Given the description of an element on the screen output the (x, y) to click on. 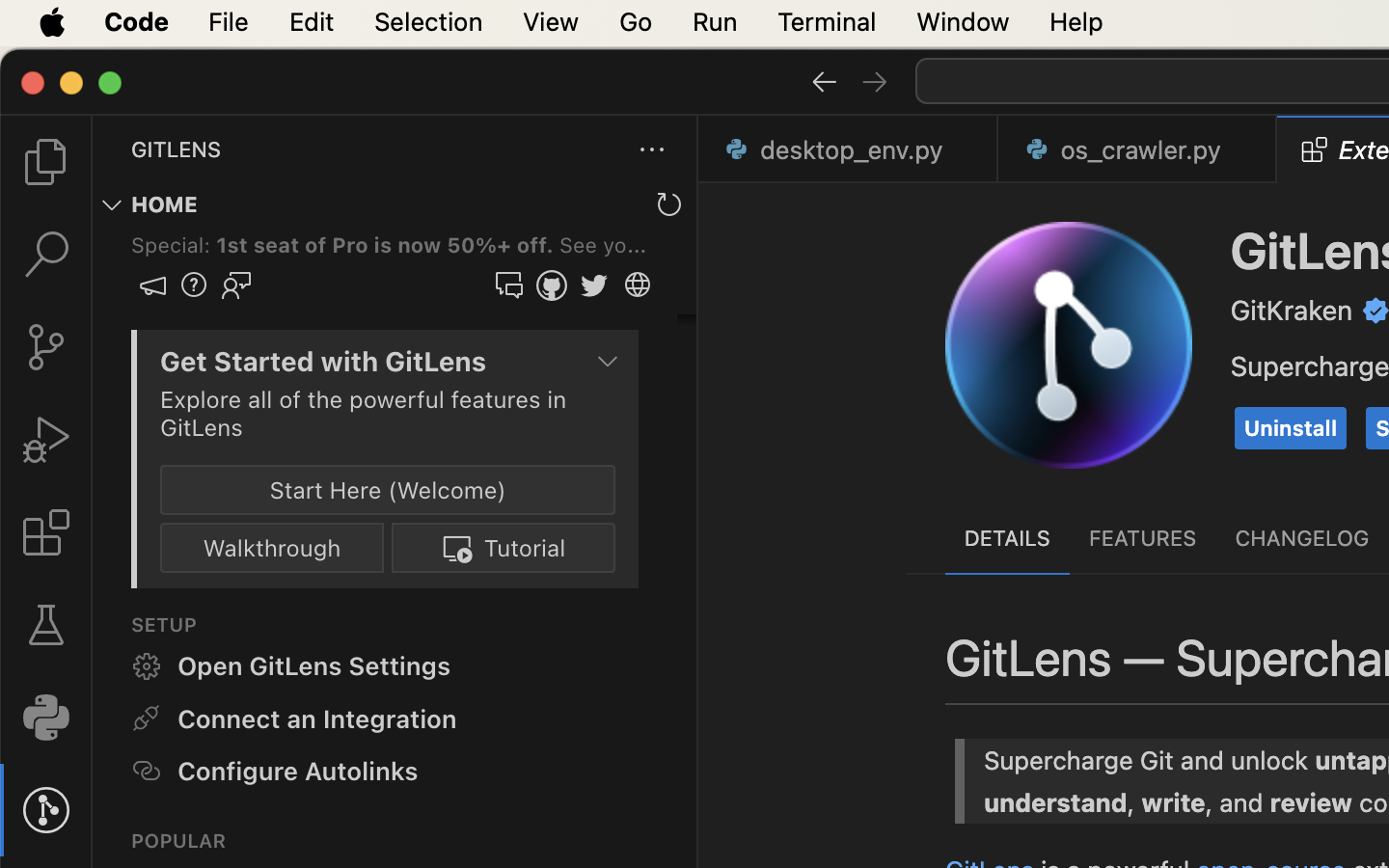
except Element type: AXStaticText (1282, 563)
GitKraken Element type: AXStaticText (1292, 310)
0 Element type: AXRadioButton (46, 717)
